Given the description of an element on the screen output the (x, y) to click on. 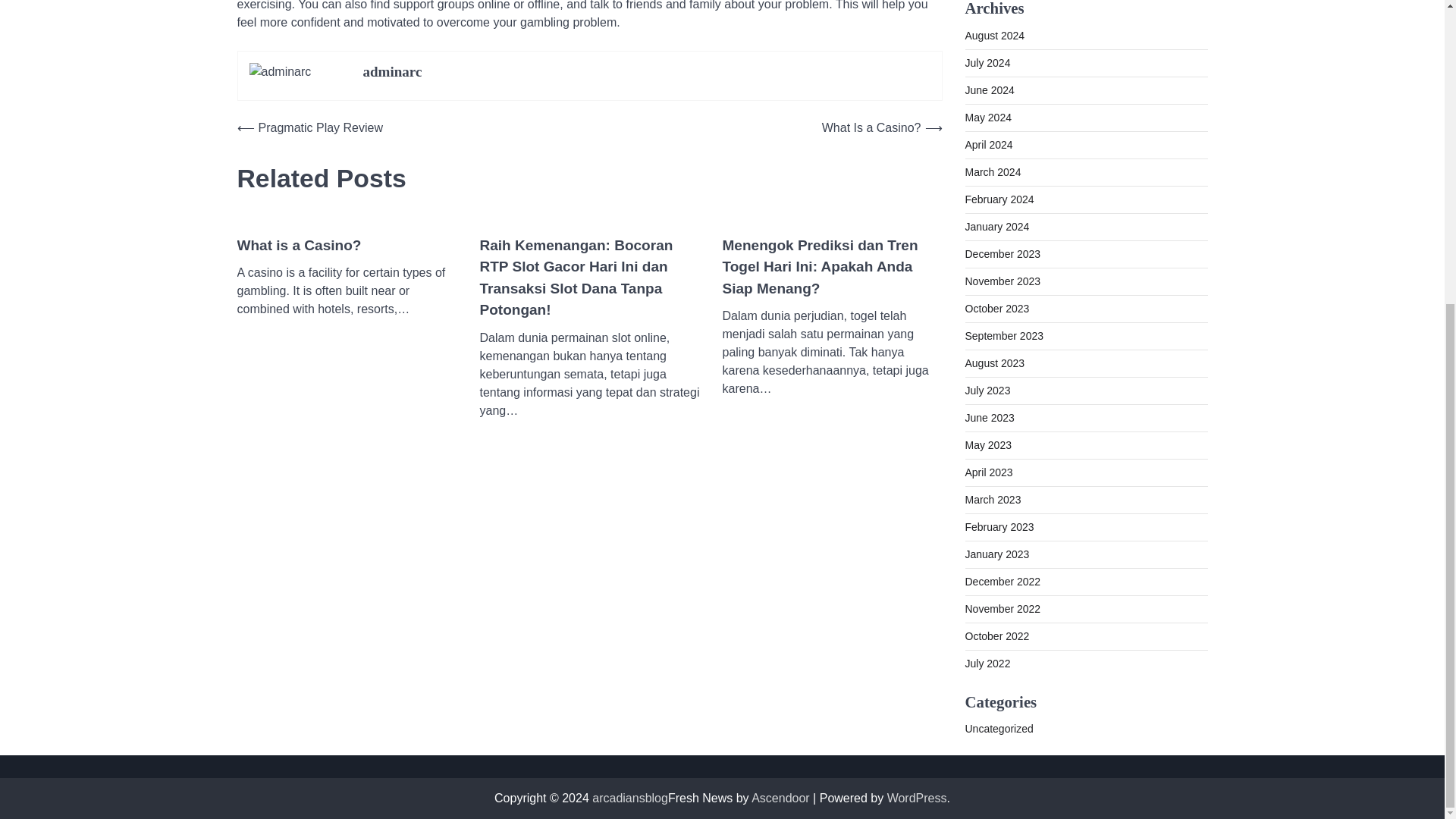
November 2023 (1002, 280)
June 2023 (988, 417)
What is a Casino? (298, 246)
February 2024 (998, 198)
February 2023 (998, 526)
December 2023 (1002, 253)
July 2024 (986, 61)
August 2024 (994, 34)
March 2024 (991, 171)
